Given the description of an element on the screen output the (x, y) to click on. 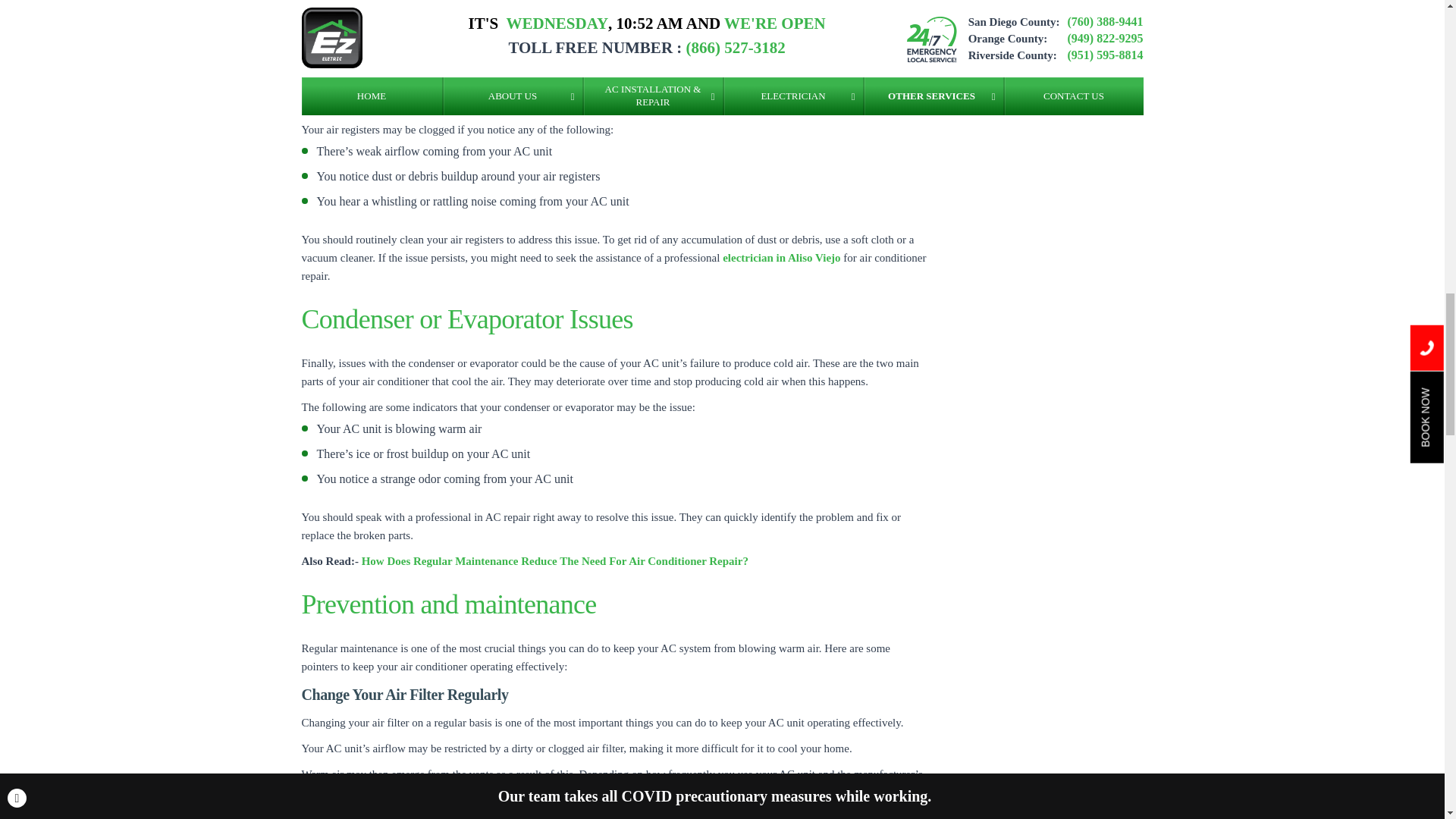
electrician in Aliso Viejo (781, 257)
